Given the description of an element on the screen output the (x, y) to click on. 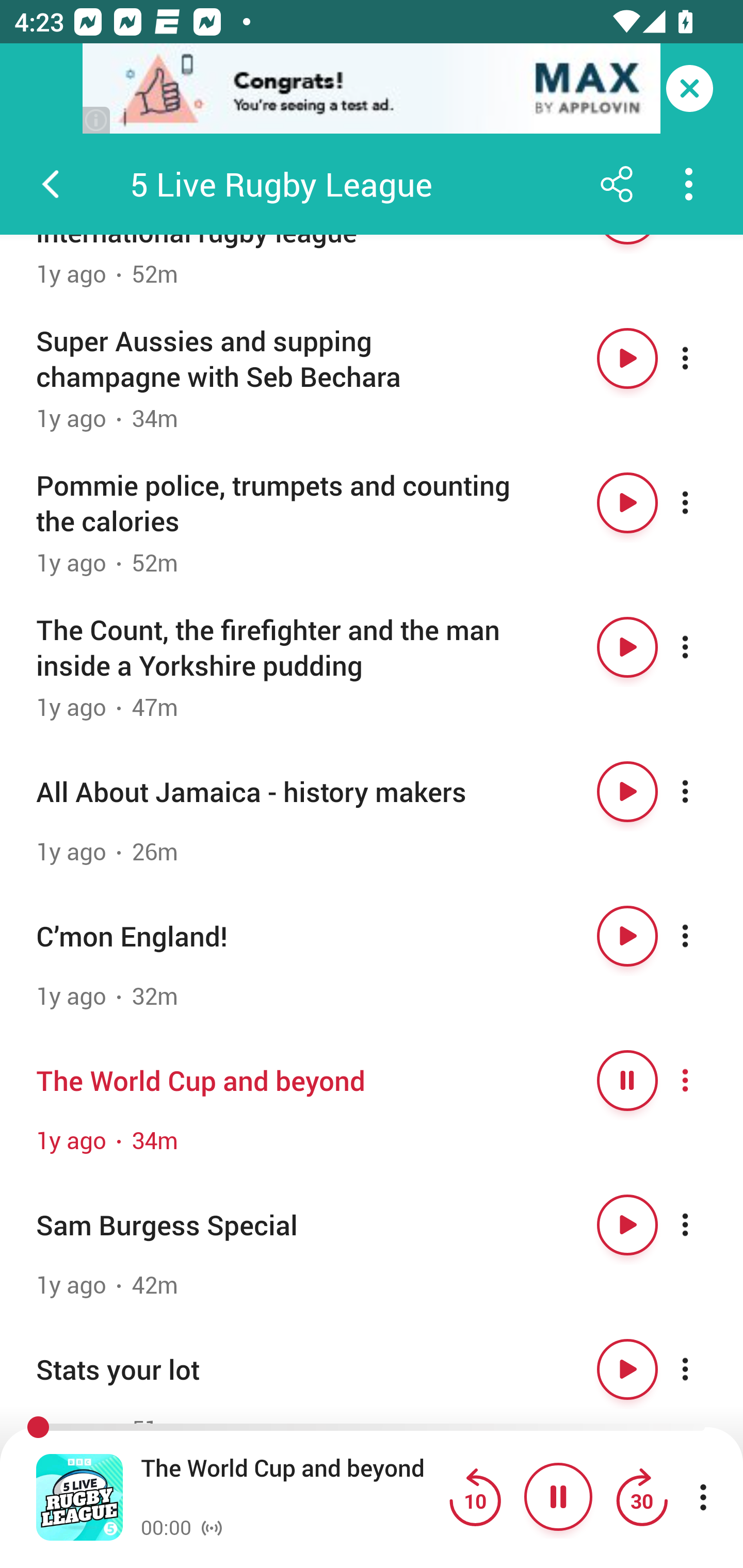
app-monetization (371, 88)
(i) (96, 119)
Back (50, 184)
Play button (627, 358)
More options (703, 358)
Play button (627, 502)
More options (703, 502)
Play button (627, 647)
More options (703, 647)
Play button (627, 791)
More options (703, 791)
Play button (627, 935)
More options (703, 935)
Pause button (627, 1080)
More options (703, 1080)
Play button (627, 1225)
More options (703, 1225)
Play button (627, 1369)
More options (703, 1369)
Open fullscreen player (79, 1497)
More player controls (703, 1497)
The World Cup and beyond (290, 1484)
Pause button (558, 1496)
Jump back (475, 1497)
Jump forward (641, 1497)
